Given the description of an element on the screen output the (x, y) to click on. 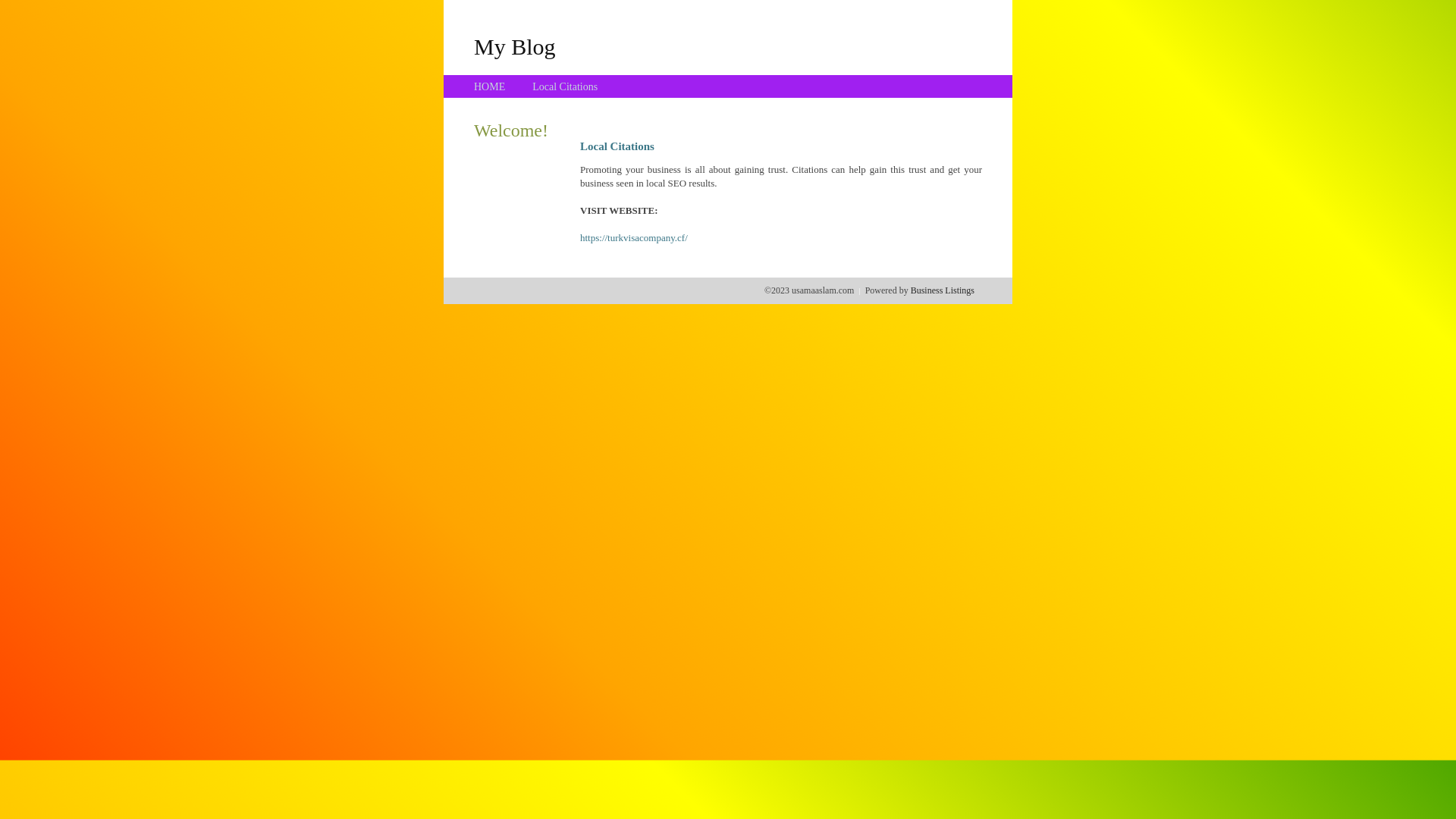
Local Citations Element type: text (564, 86)
My Blog Element type: text (514, 46)
Business Listings Element type: text (942, 290)
https://turkvisacompany.cf/ Element type: text (633, 237)
HOME Element type: text (489, 86)
